Given the description of an element on the screen output the (x, y) to click on. 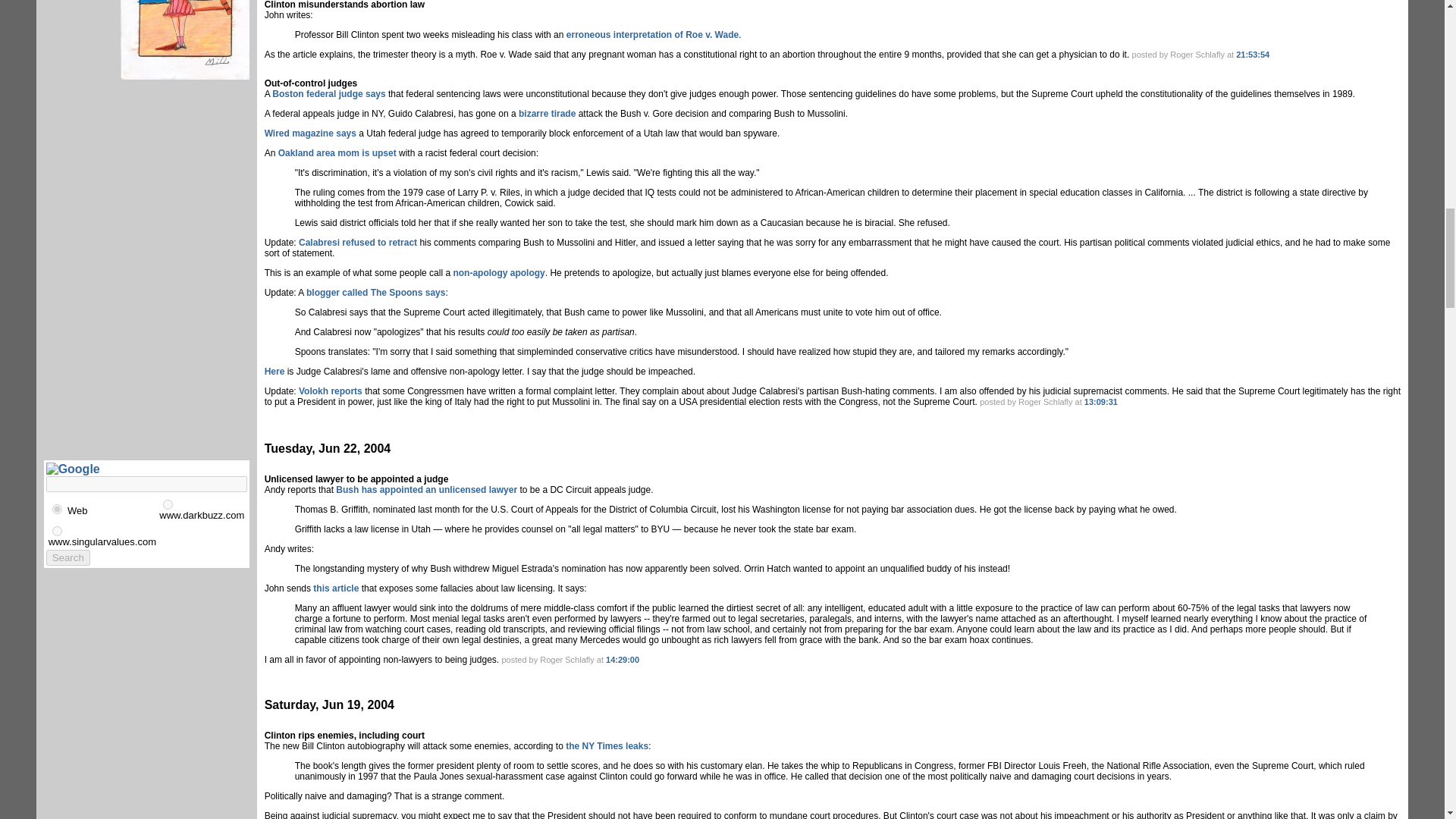
Search www.singularvalues.com (101, 540)
Search the Web (76, 509)
Search (68, 557)
www.darkbuzz.com (168, 504)
Search www.darkbuzz.com (201, 513)
www.singularvalues.com (57, 531)
